Given the description of an element on the screen output the (x, y) to click on. 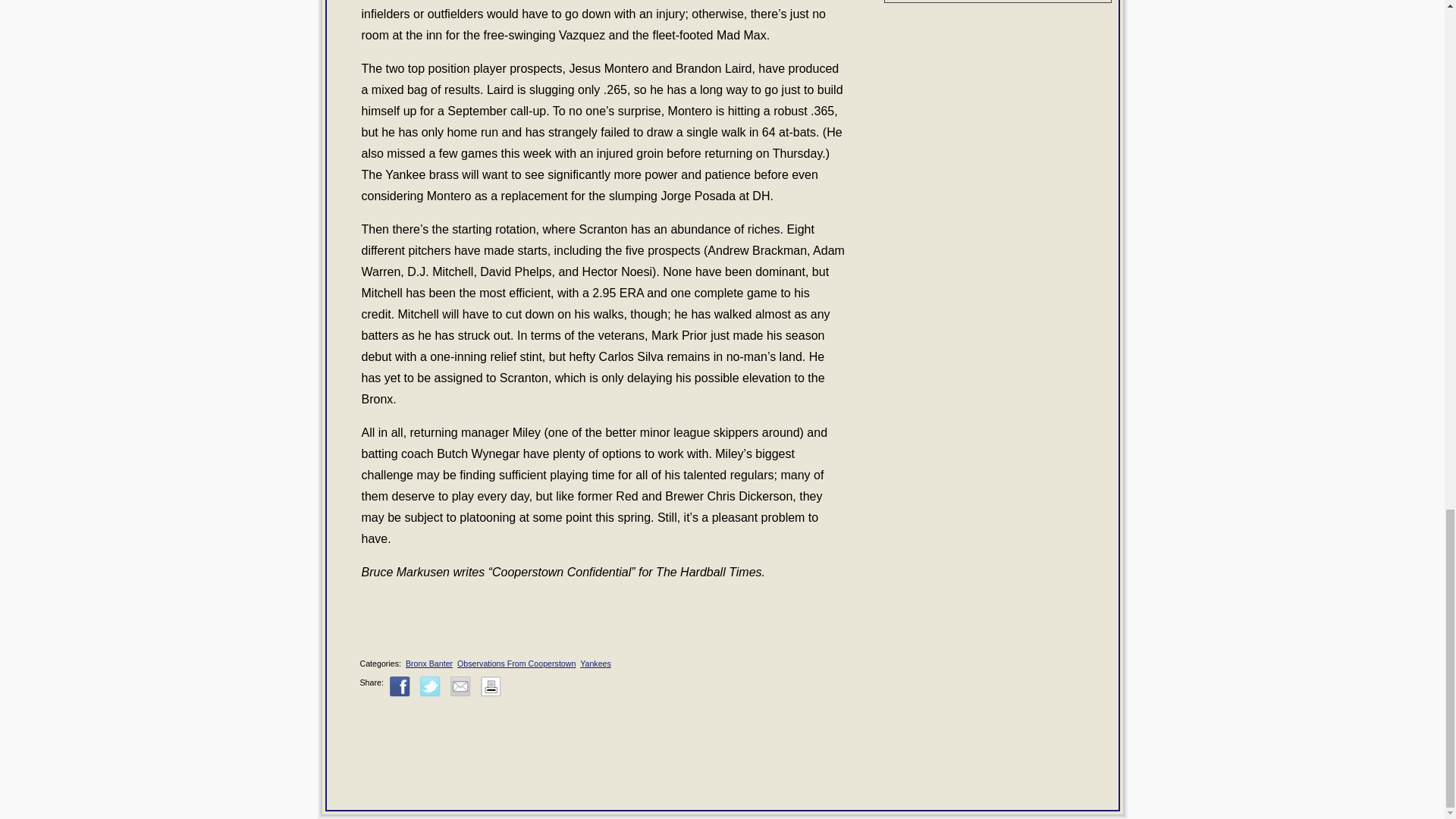
Share on Facebook (400, 686)
Print This Post (490, 693)
Print This Post (490, 686)
Share via email (459, 686)
Share on Twitter (430, 686)
